Given the description of an element on the screen output the (x, y) to click on. 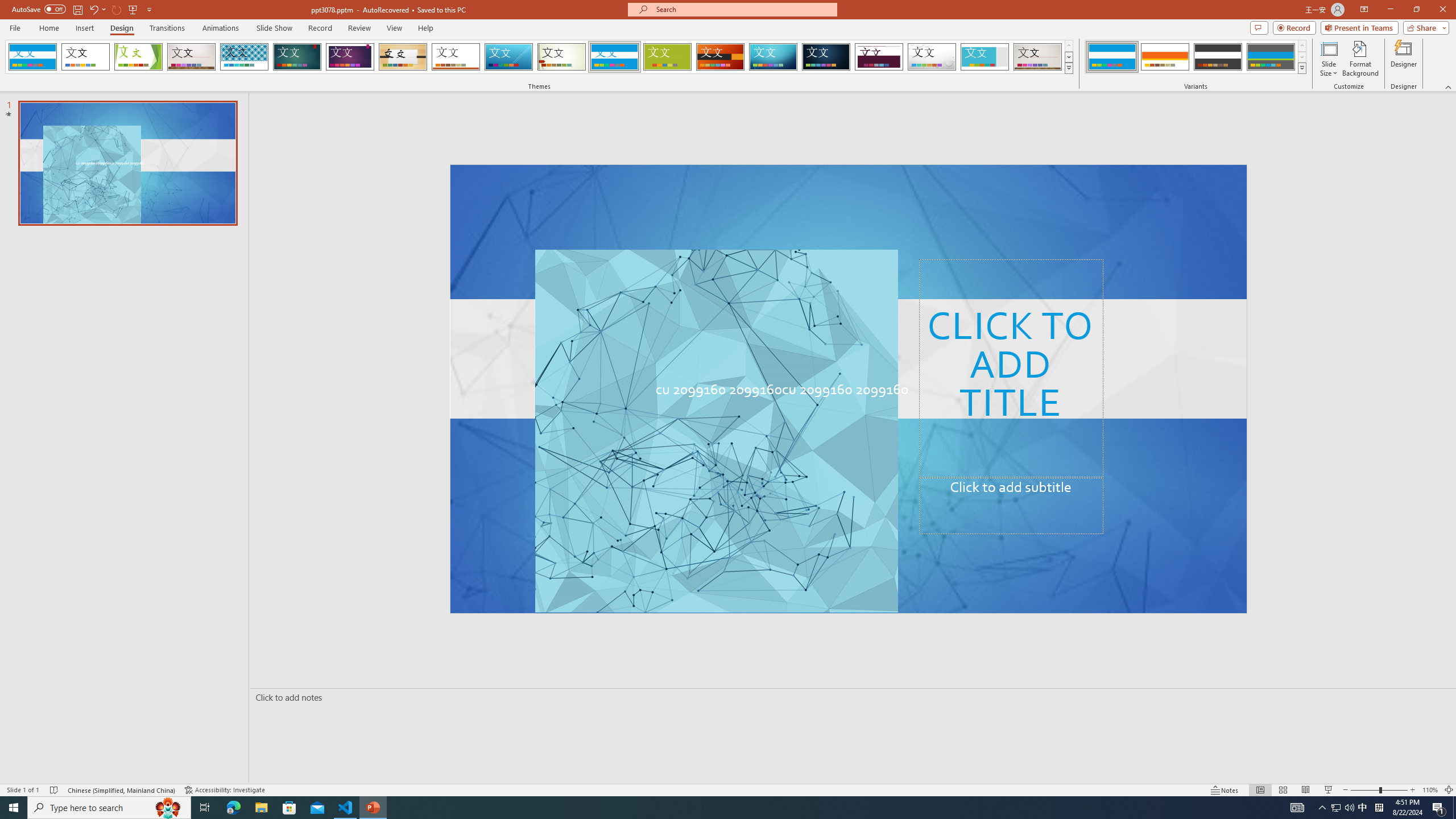
Ion Boardroom (350, 56)
Office Theme (85, 56)
Banded Variant 3 (1217, 56)
Ion (296, 56)
Zoom 110% (1430, 790)
Slide Size (1328, 58)
